Given the description of an element on the screen output the (x, y) to click on. 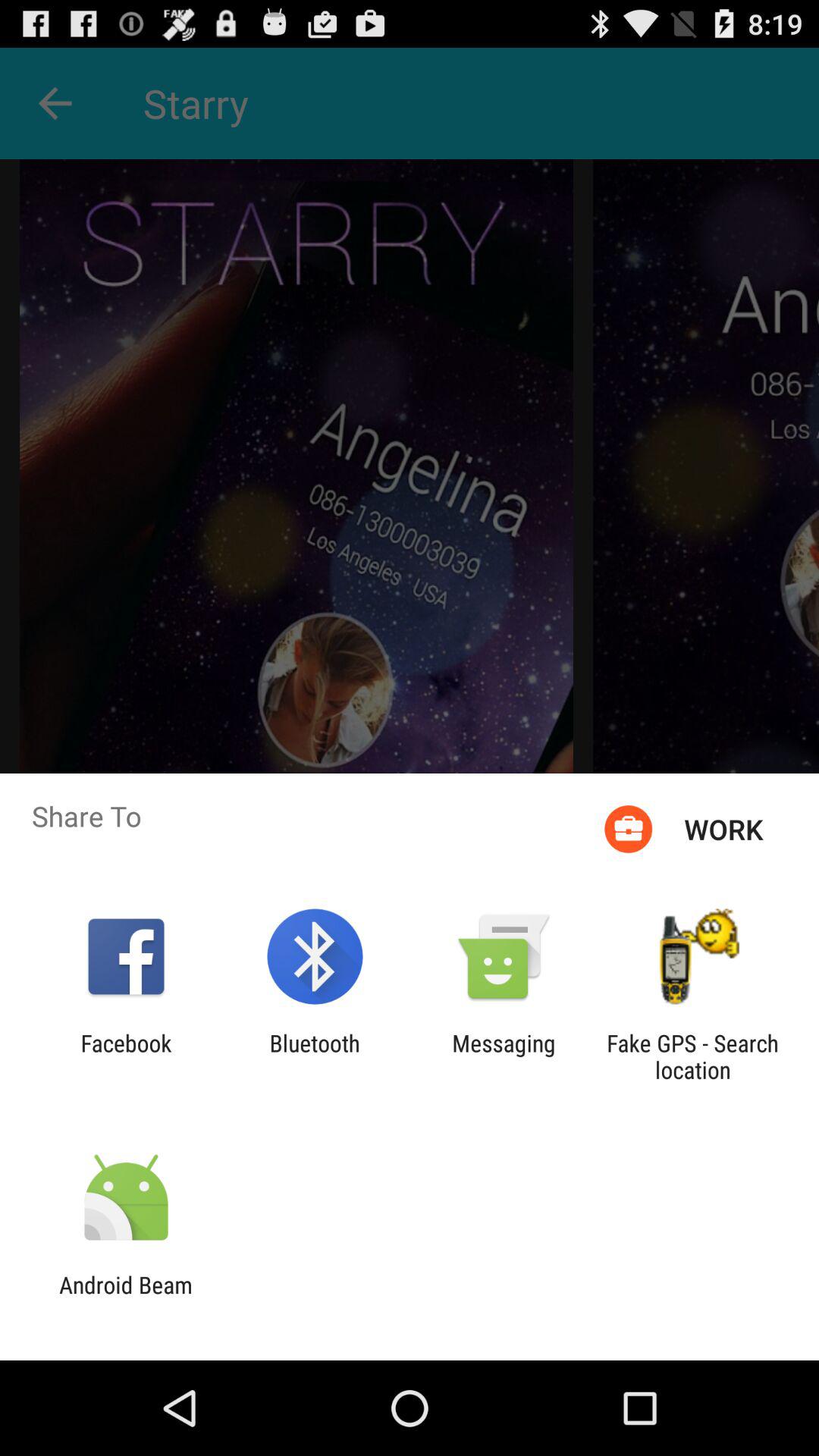
turn off item to the left of bluetooth (125, 1056)
